Given the description of an element on the screen output the (x, y) to click on. 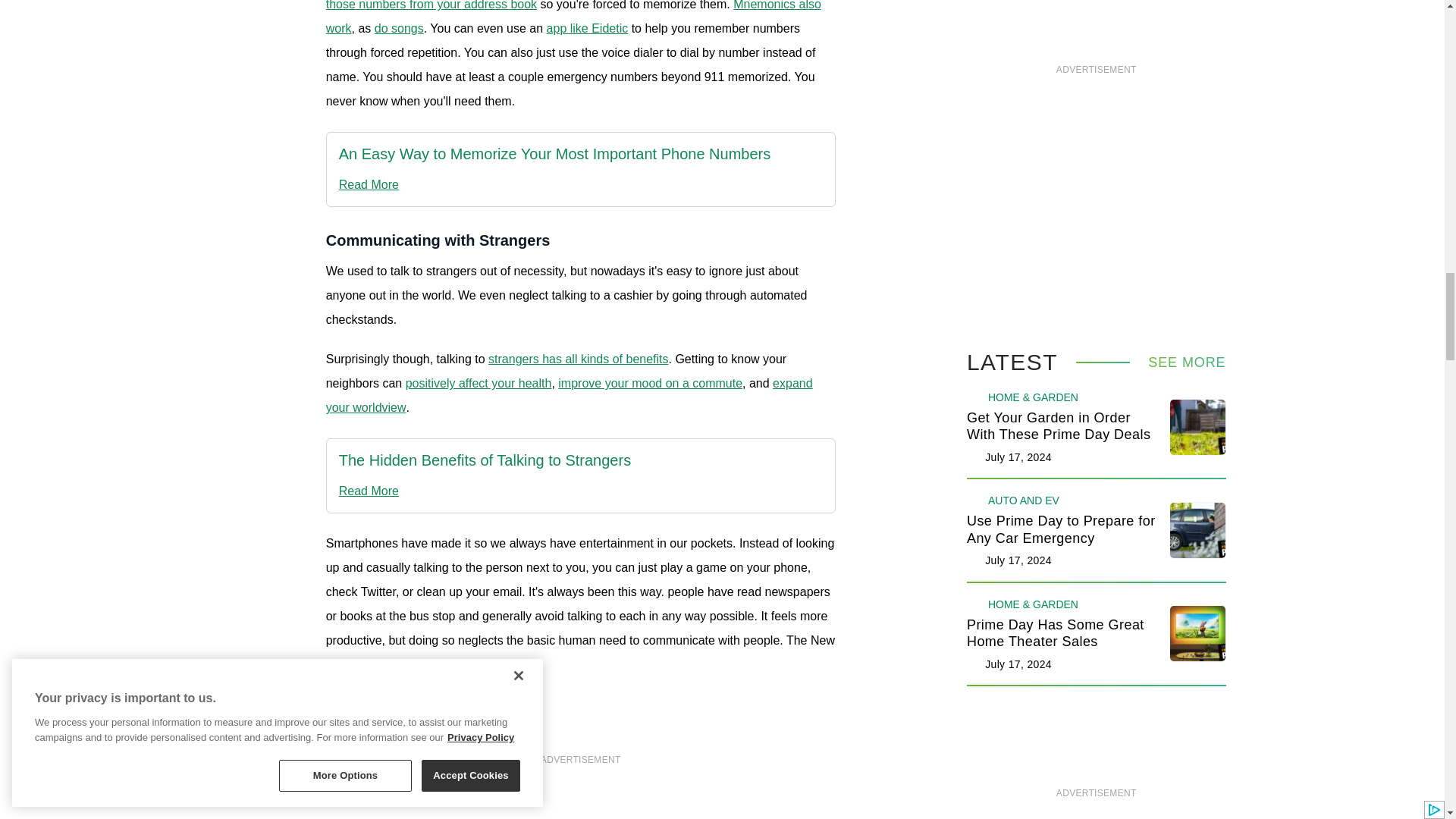
open in a new window (580, 5)
open in a new window (573, 17)
